Given the description of an element on the screen output the (x, y) to click on. 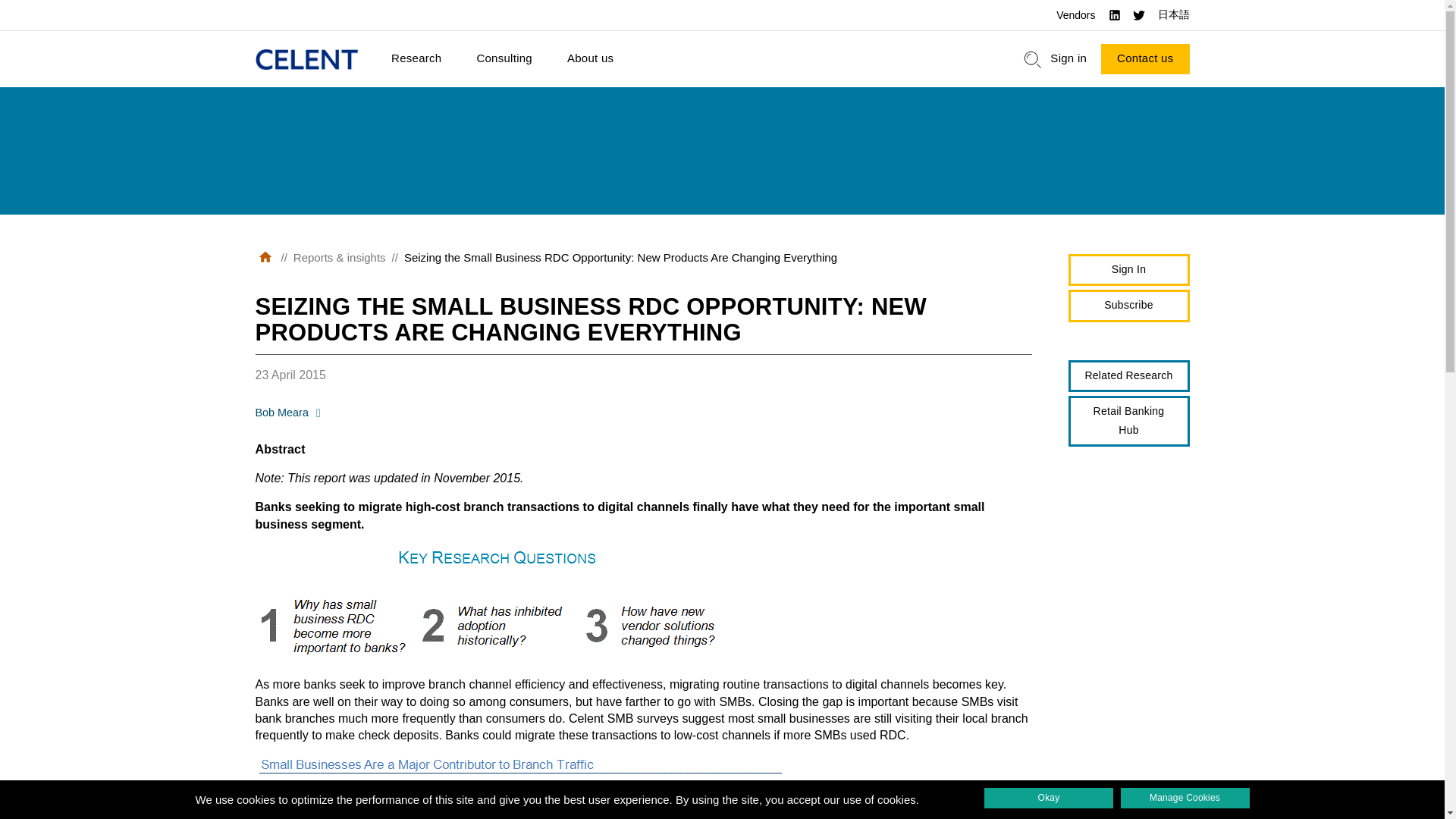
Okay (1048, 797)
Vendors (1075, 15)
Consulting (503, 59)
Sign in (1068, 59)
Home (306, 59)
Manage Cookies (1185, 797)
Contact us (1144, 59)
search (1032, 58)
About us (590, 59)
Research (415, 59)
